Given the description of an element on the screen output the (x, y) to click on. 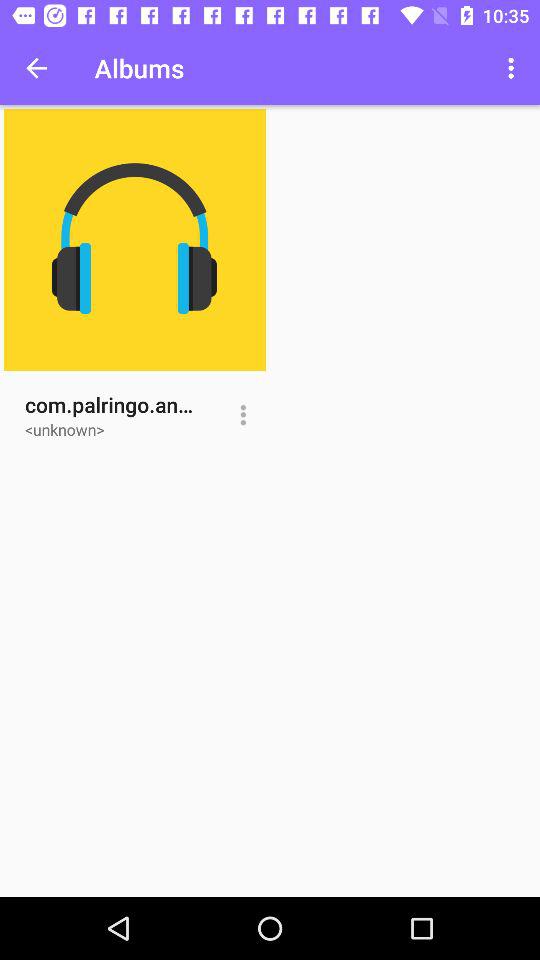
select item to the left of the albums icon (36, 68)
